Given the description of an element on the screen output the (x, y) to click on. 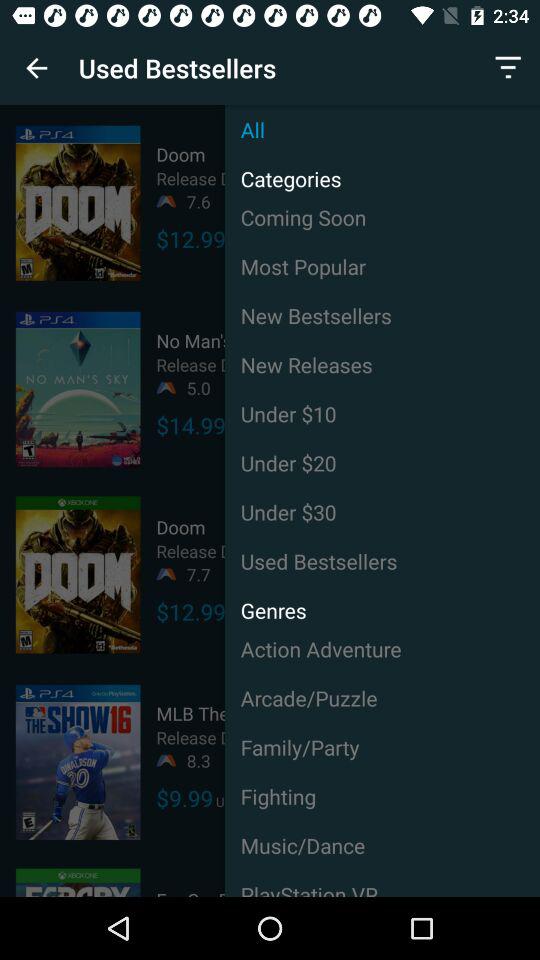
open app next to the used bestsellers icon (508, 67)
